Given the description of an element on the screen output the (x, y) to click on. 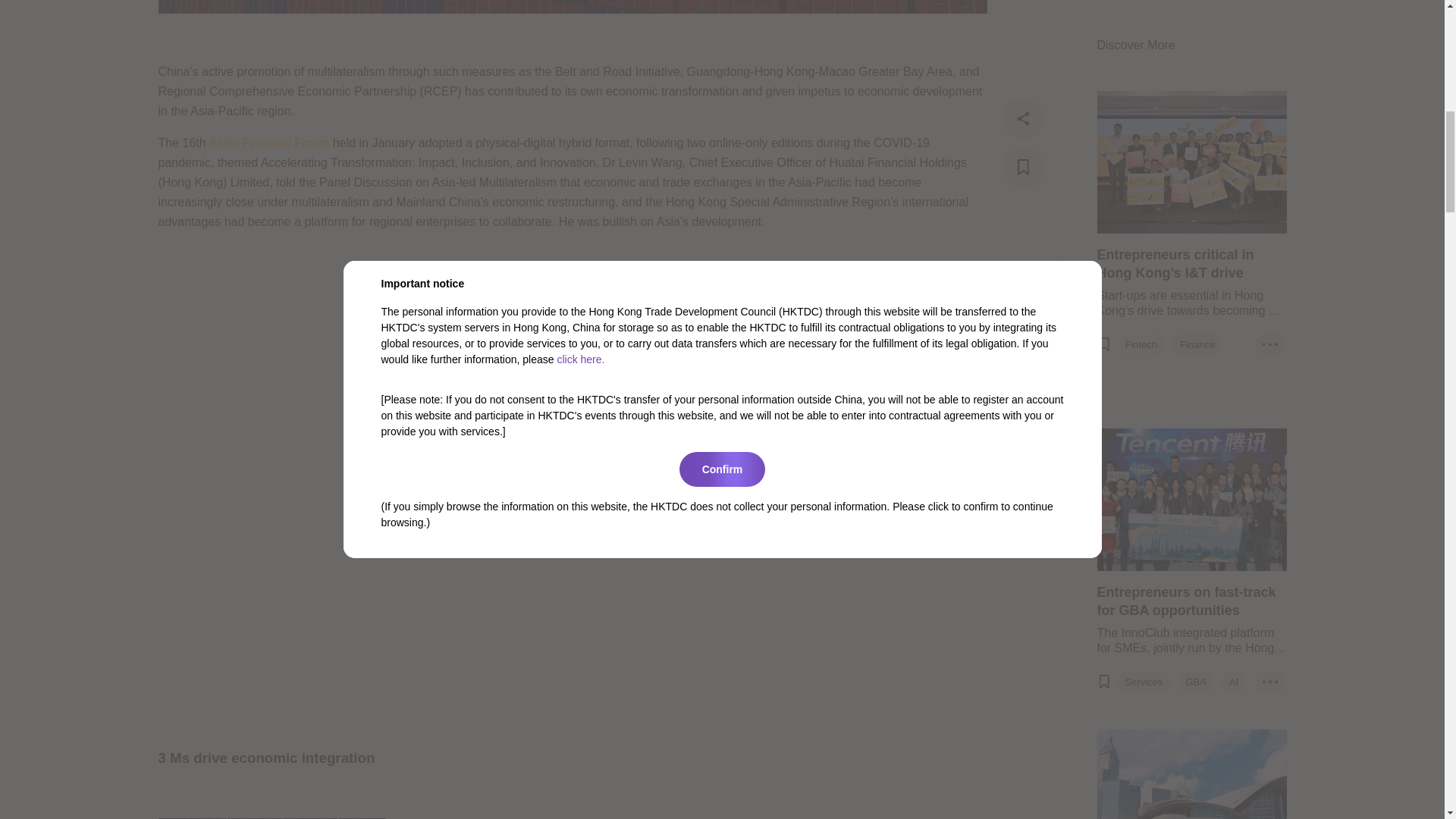
Technology (1249, 277)
GBA (1195, 1)
Fintech (1141, 277)
GBA (1189, 277)
Services (1144, 1)
AI (1233, 1)
